Given the description of an element on the screen output the (x, y) to click on. 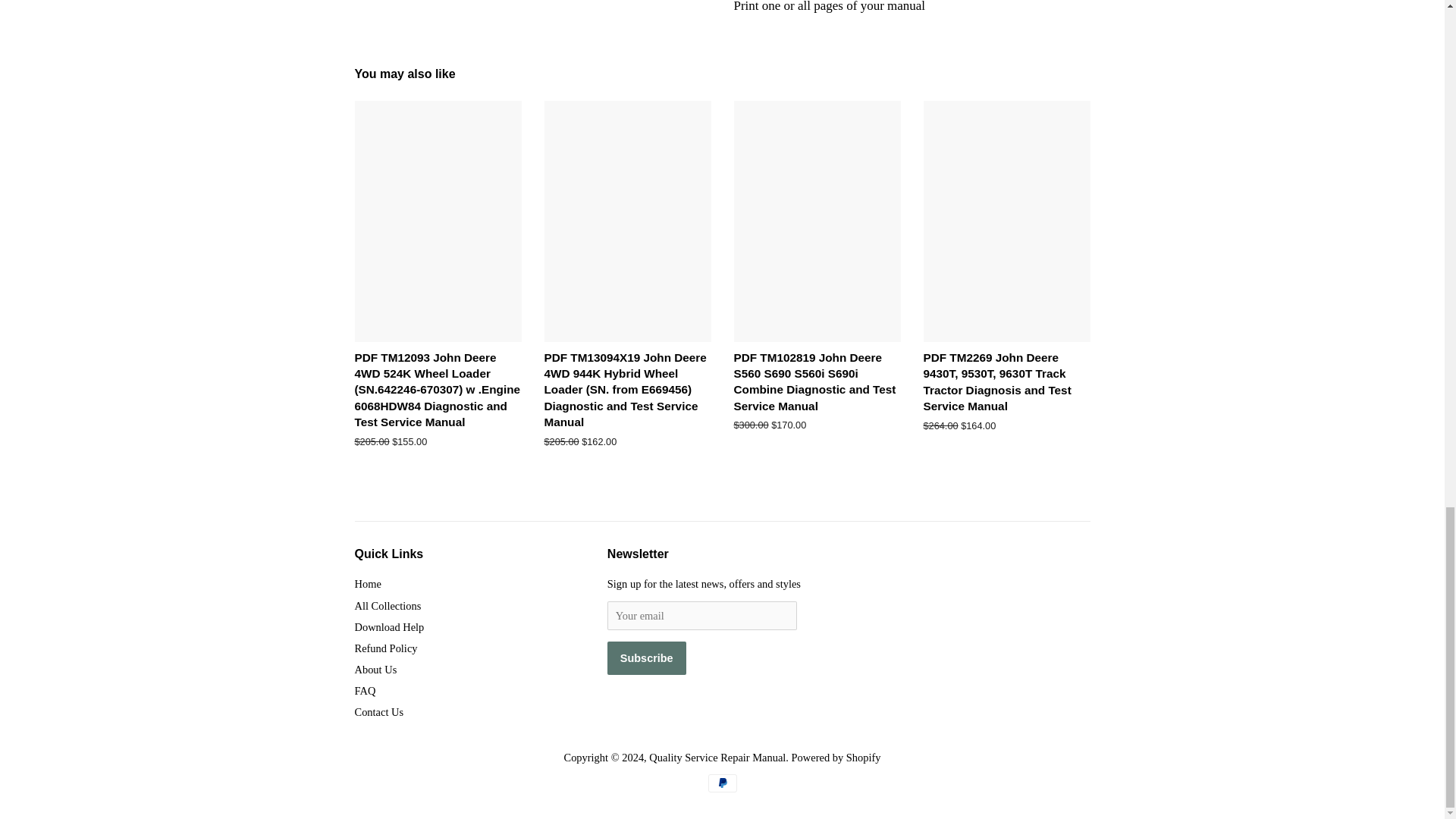
Download Help (390, 626)
PayPal (721, 782)
All Collections (388, 605)
About Us (376, 669)
Refund Policy (386, 648)
Contact Us (379, 711)
FAQ (365, 690)
Subscribe (646, 657)
Subscribe (646, 657)
Home (368, 583)
